Given the description of an element on the screen output the (x, y) to click on. 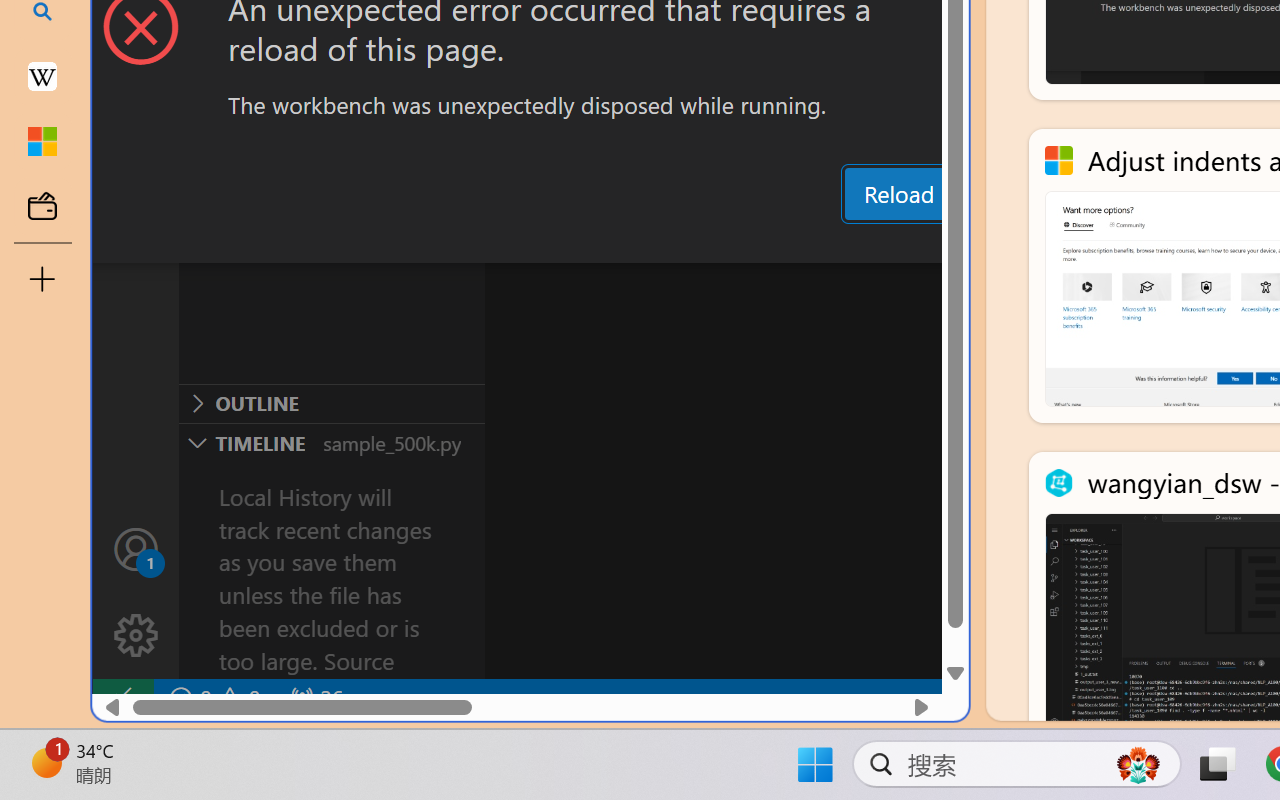
Terminal (Ctrl+`) (1021, 243)
Reload (898, 193)
No Problems (212, 698)
Manage (135, 635)
Outline Section (331, 403)
Debug Console (Ctrl+Shift+Y) (854, 243)
